Given the description of an element on the screen output the (x, y) to click on. 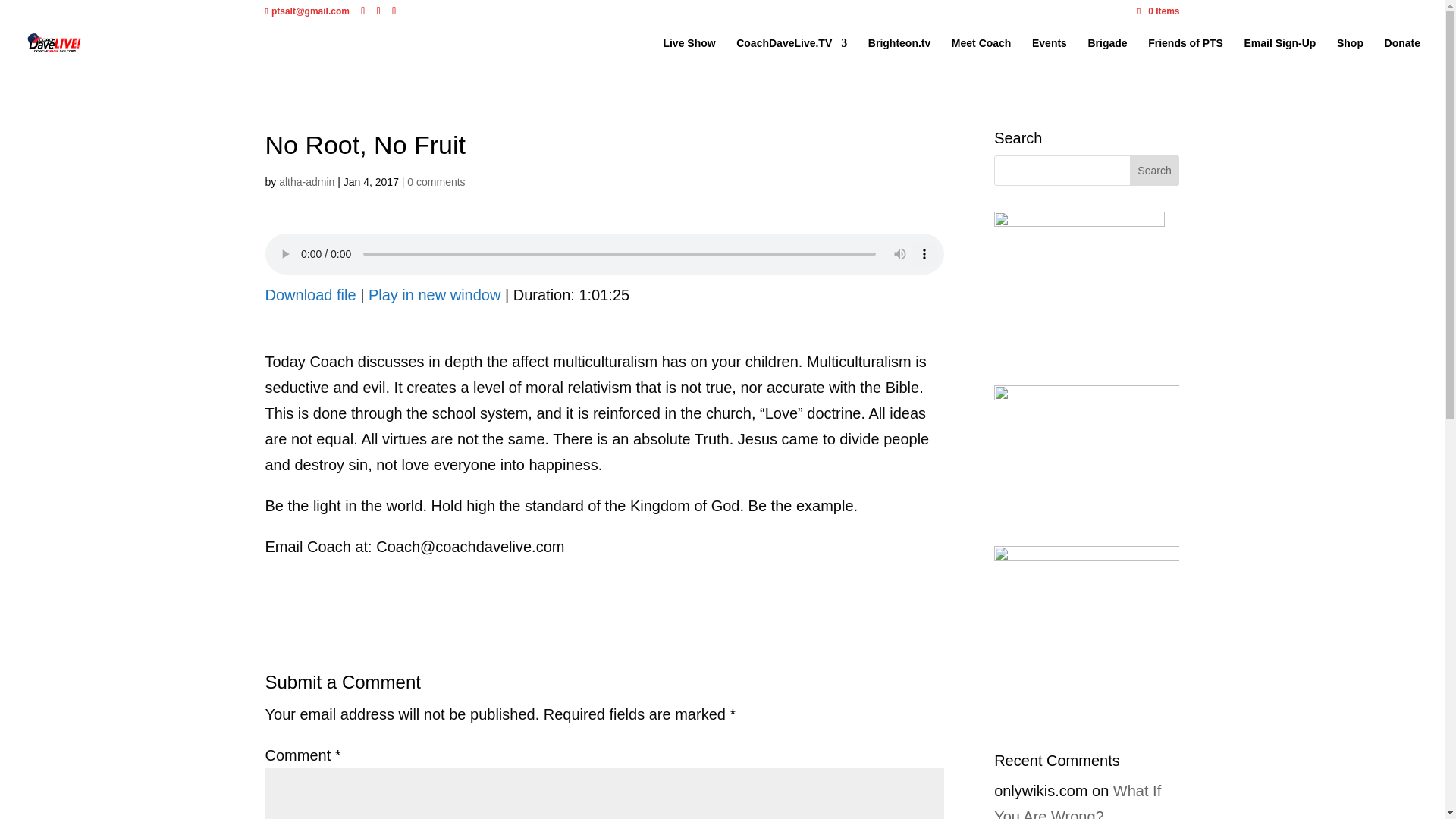
Shop (1349, 50)
Events (1049, 50)
Brighteon.tv (898, 50)
Meet Coach (981, 50)
altha-admin (306, 182)
Search (1154, 170)
Play in new window (434, 294)
No Root, No Fruit  (310, 294)
Donate (1402, 50)
No Root, No Fruit  (434, 294)
